Given the description of an element on the screen output the (x, y) to click on. 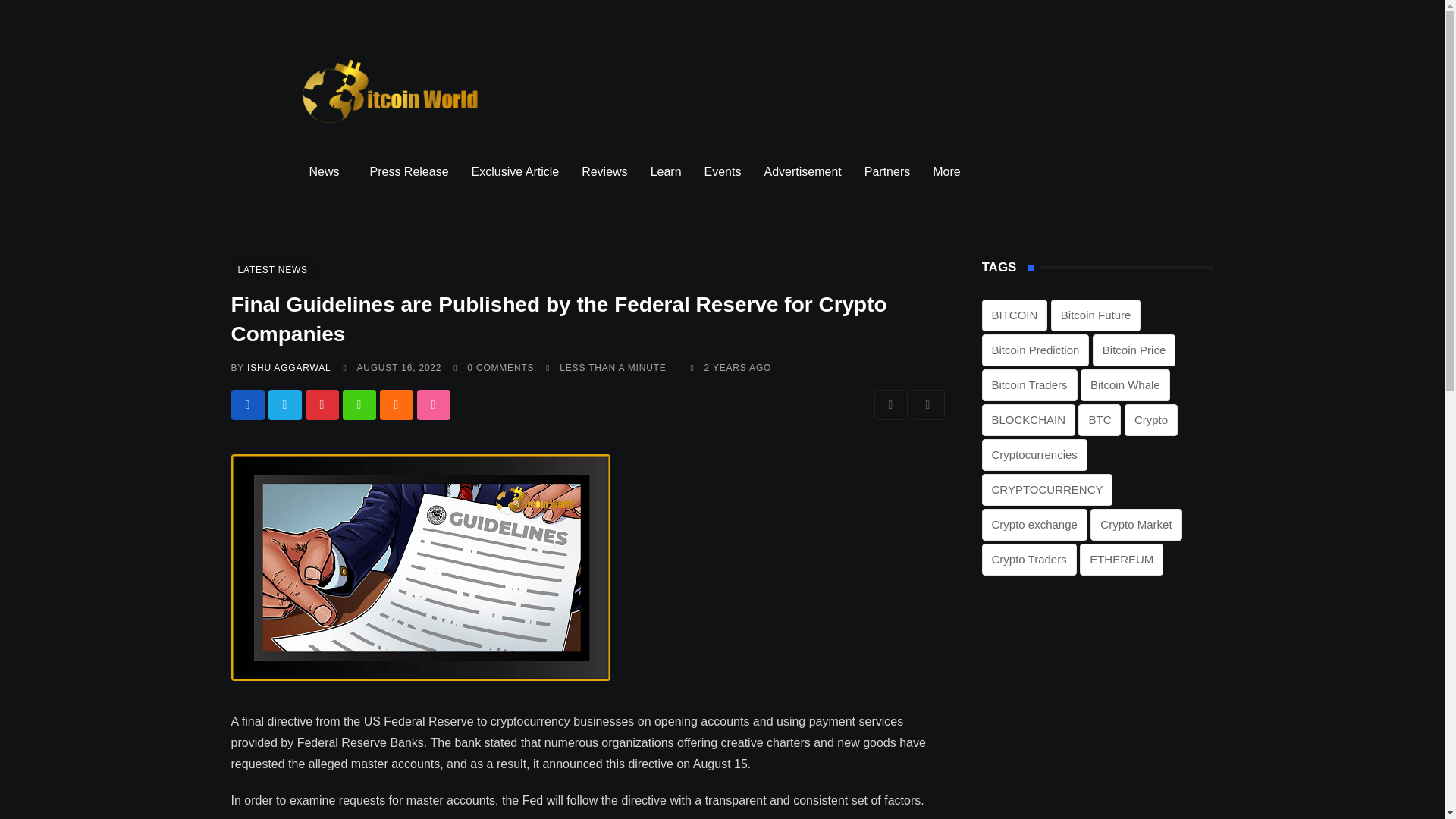
Learn (666, 171)
Partners (887, 171)
Exclusive Article (515, 171)
News (327, 171)
Posts by Ishu Aggarwal (288, 367)
LATEST NEWS (272, 268)
Reviews (604, 171)
ISHU AGGARWAL (288, 367)
More (949, 171)
Press Release (409, 171)
